Given the description of an element on the screen output the (x, y) to click on. 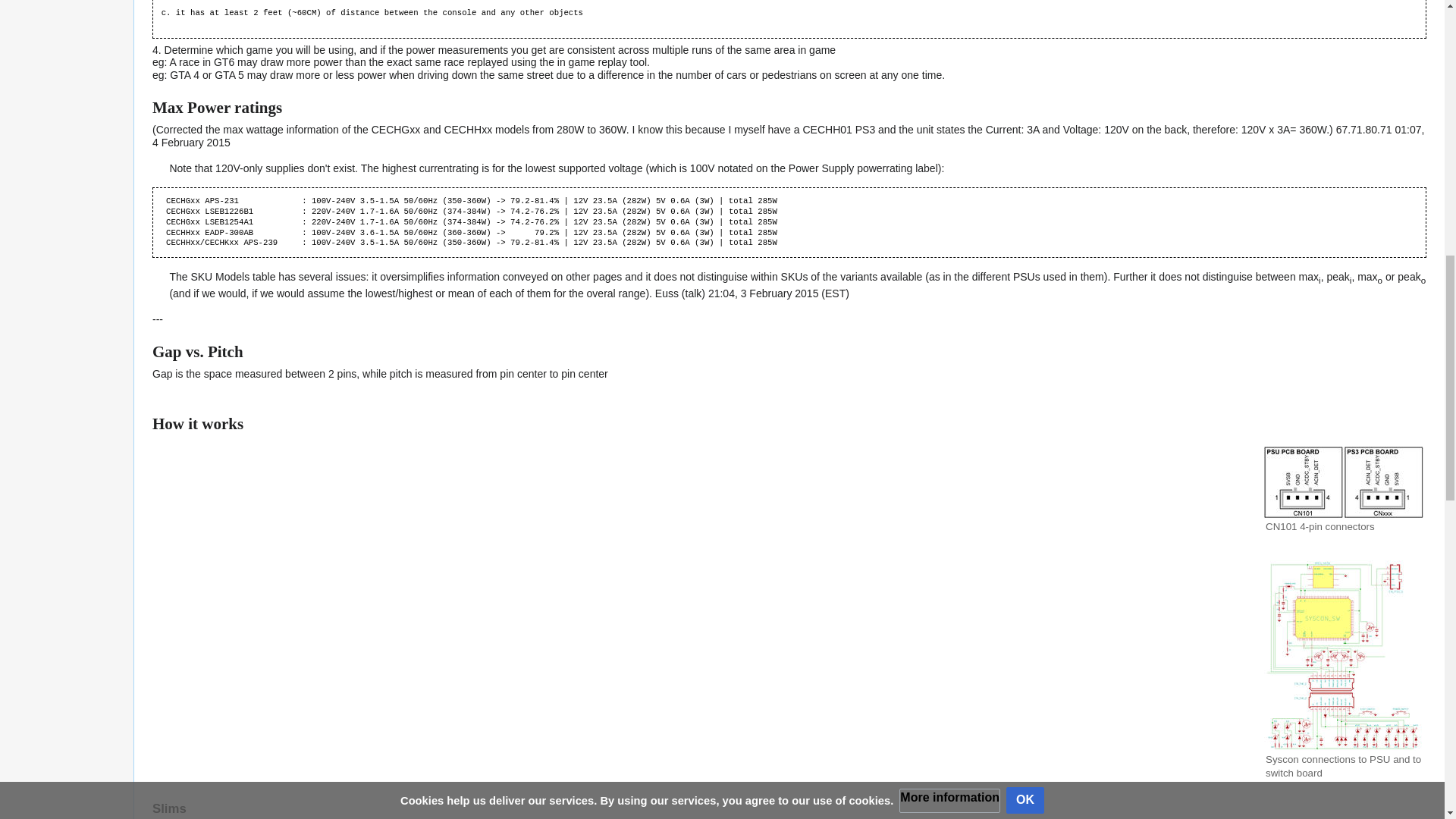
LSEB1226B1 (229, 211)
User:Euss (666, 293)
LSEB1226B1 (229, 211)
Power Supply (821, 168)
Power Supply (821, 168)
CECHGxx (182, 221)
67.71.80.71 (1363, 129)
CECHKxx (221, 242)
CECHHxx (182, 232)
Euss (666, 293)
User talk:Euss (693, 293)
APS-231 (221, 200)
CECHHxx (182, 232)
CECHGxx (182, 200)
CECHGxx (182, 221)
